Given the description of an element on the screen output the (x, y) to click on. 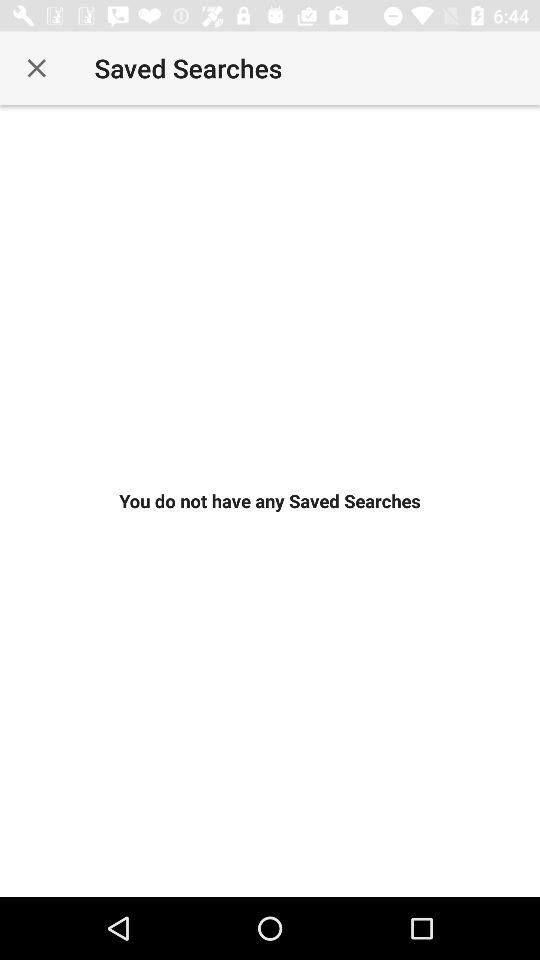
close saved searches (36, 68)
